Given the description of an element on the screen output the (x, y) to click on. 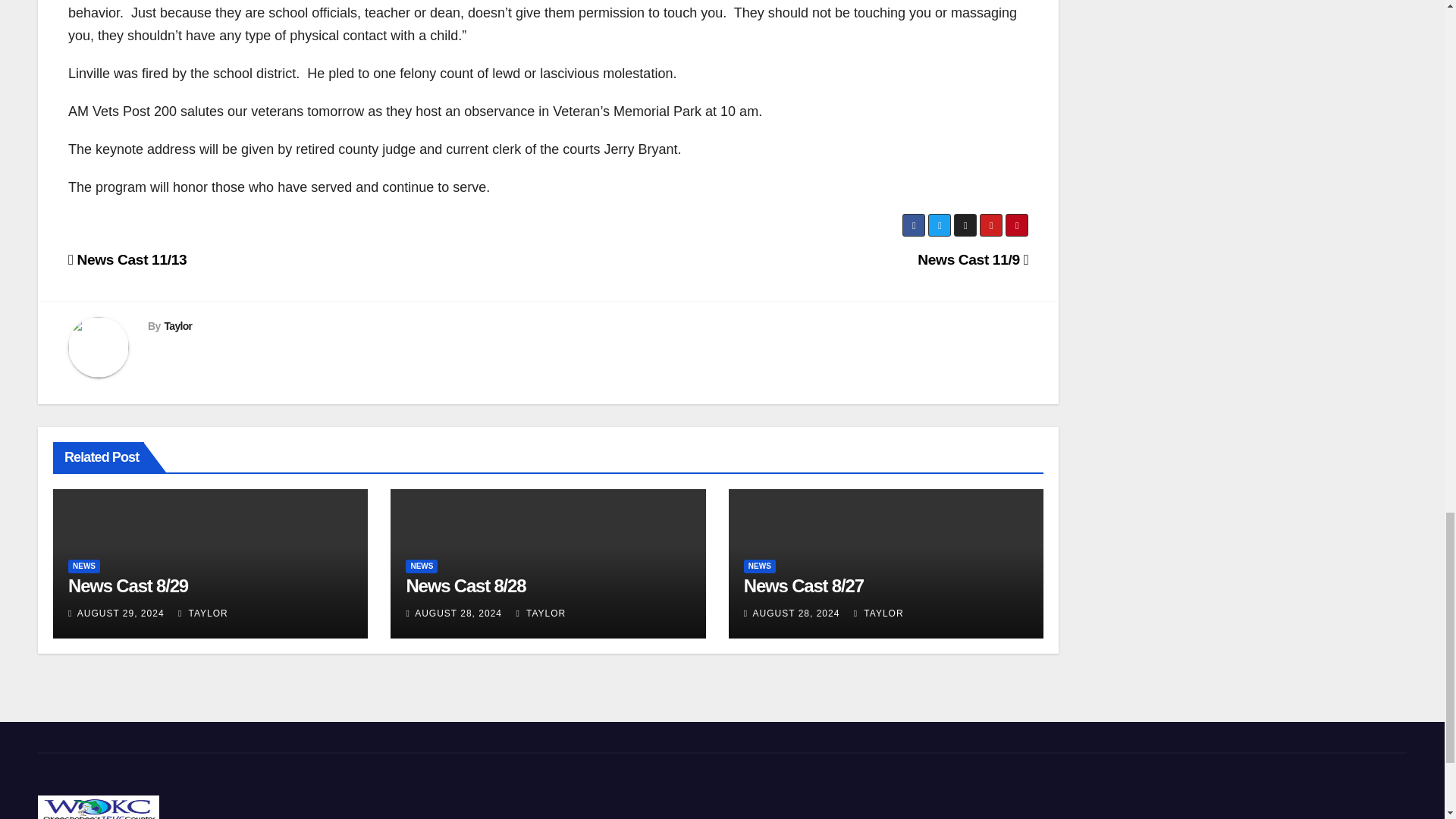
TAYLOR (878, 613)
NEWS (422, 566)
NEWS (84, 566)
NEWS (760, 566)
AUGUST 28, 2024 (458, 613)
AUGUST 29, 2024 (120, 613)
TAYLOR (202, 613)
AUGUST 28, 2024 (796, 613)
Taylor (177, 326)
TAYLOR (540, 613)
